Given the description of an element on the screen output the (x, y) to click on. 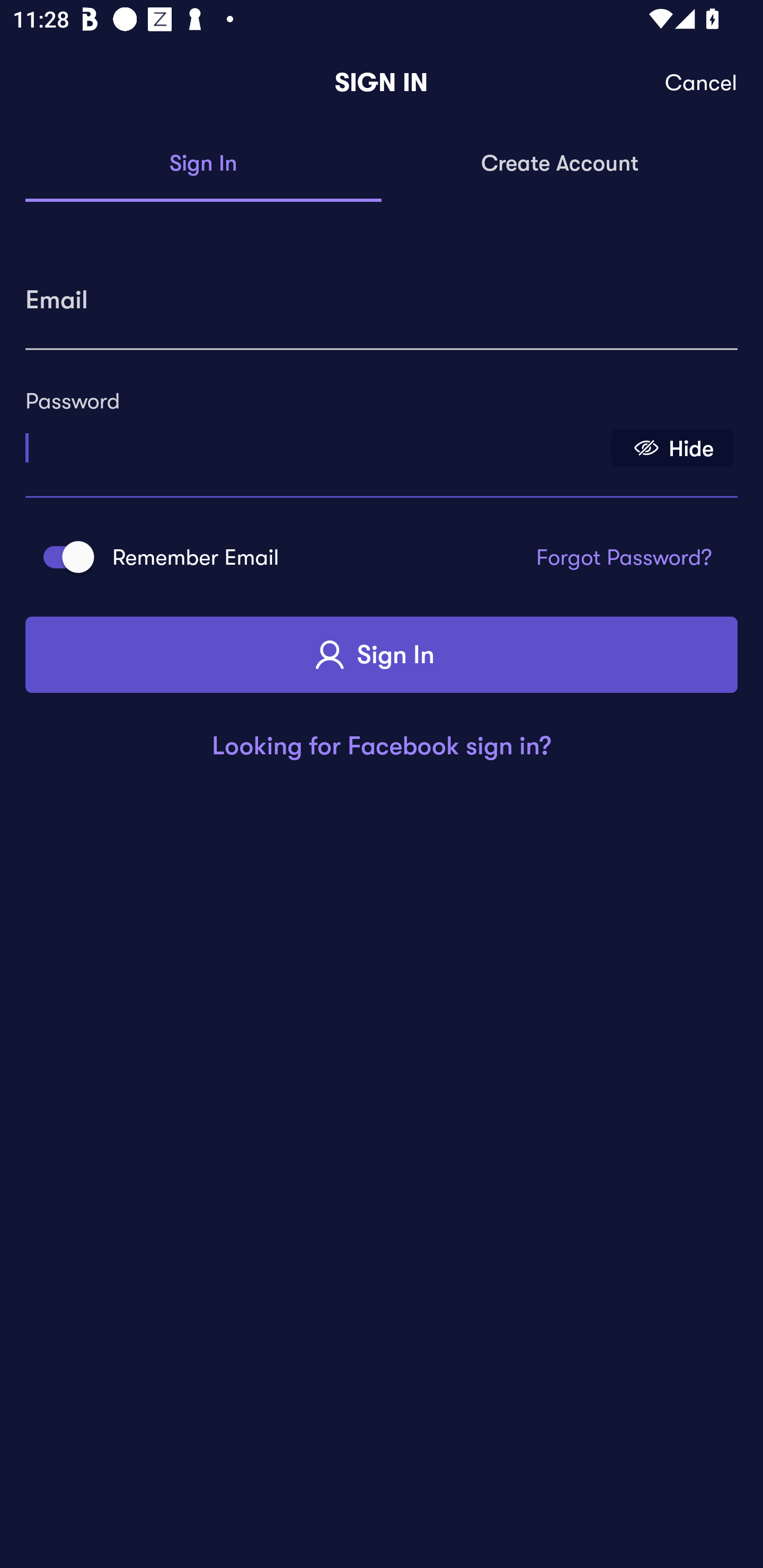
Cancel (701, 82)
Sign In (203, 164)
Create Account (559, 164)
Email (381, 293)
Password (314, 441)
Show Password Hide (671, 447)
Remember Email (62, 557)
Sign In (381, 654)
